Given the description of an element on the screen output the (x, y) to click on. 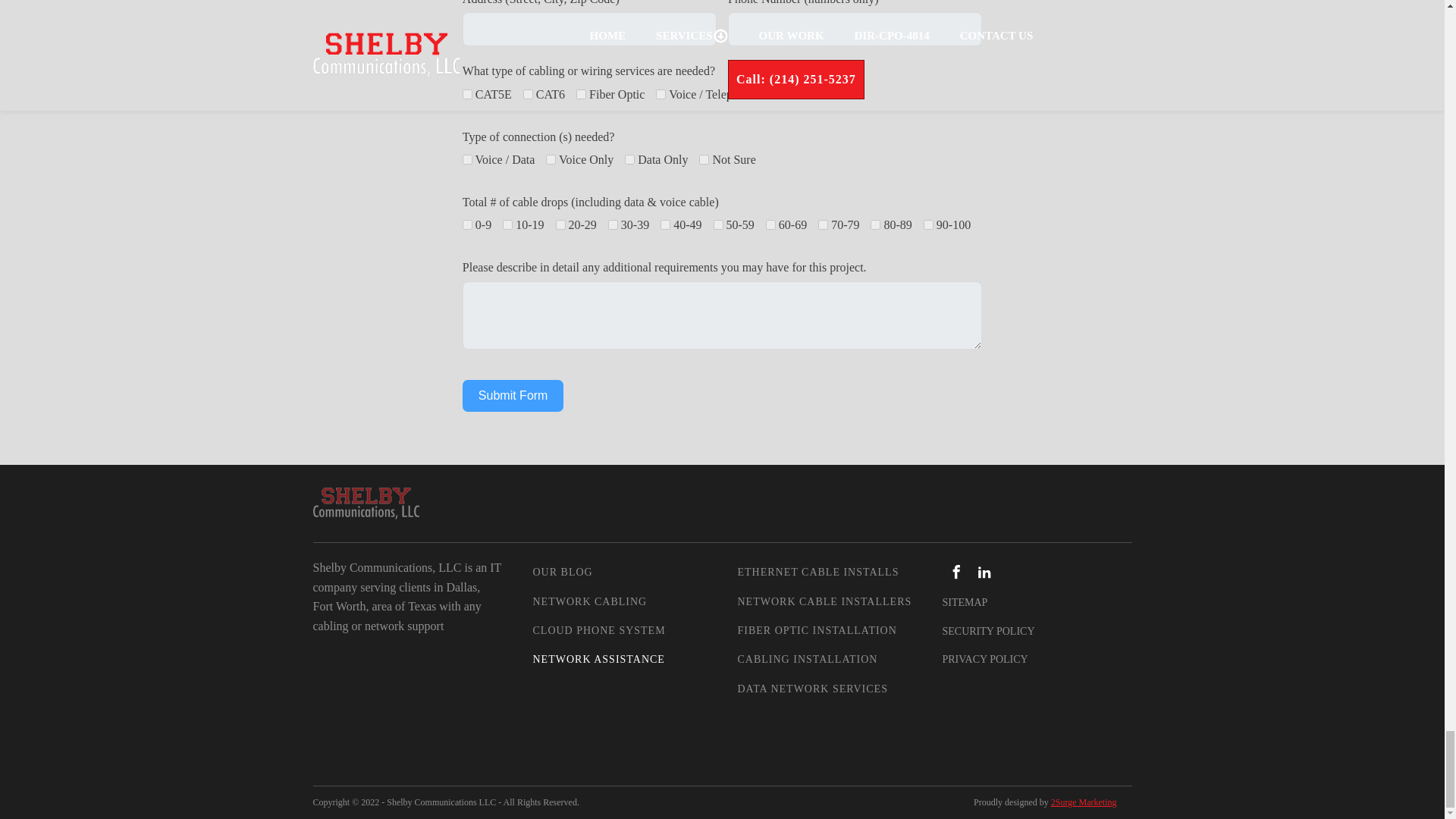
Data Only (629, 159)
SITEMAP (964, 602)
NETWORK CABLE INSTALLERS (823, 602)
40-49 (665, 225)
Not Sure (772, 94)
20-29 (561, 225)
Submit Form (513, 395)
CABLING INSTALLATION (823, 659)
CAT6 (527, 94)
NETWORK CABLING (598, 602)
